Given the description of an element on the screen output the (x, y) to click on. 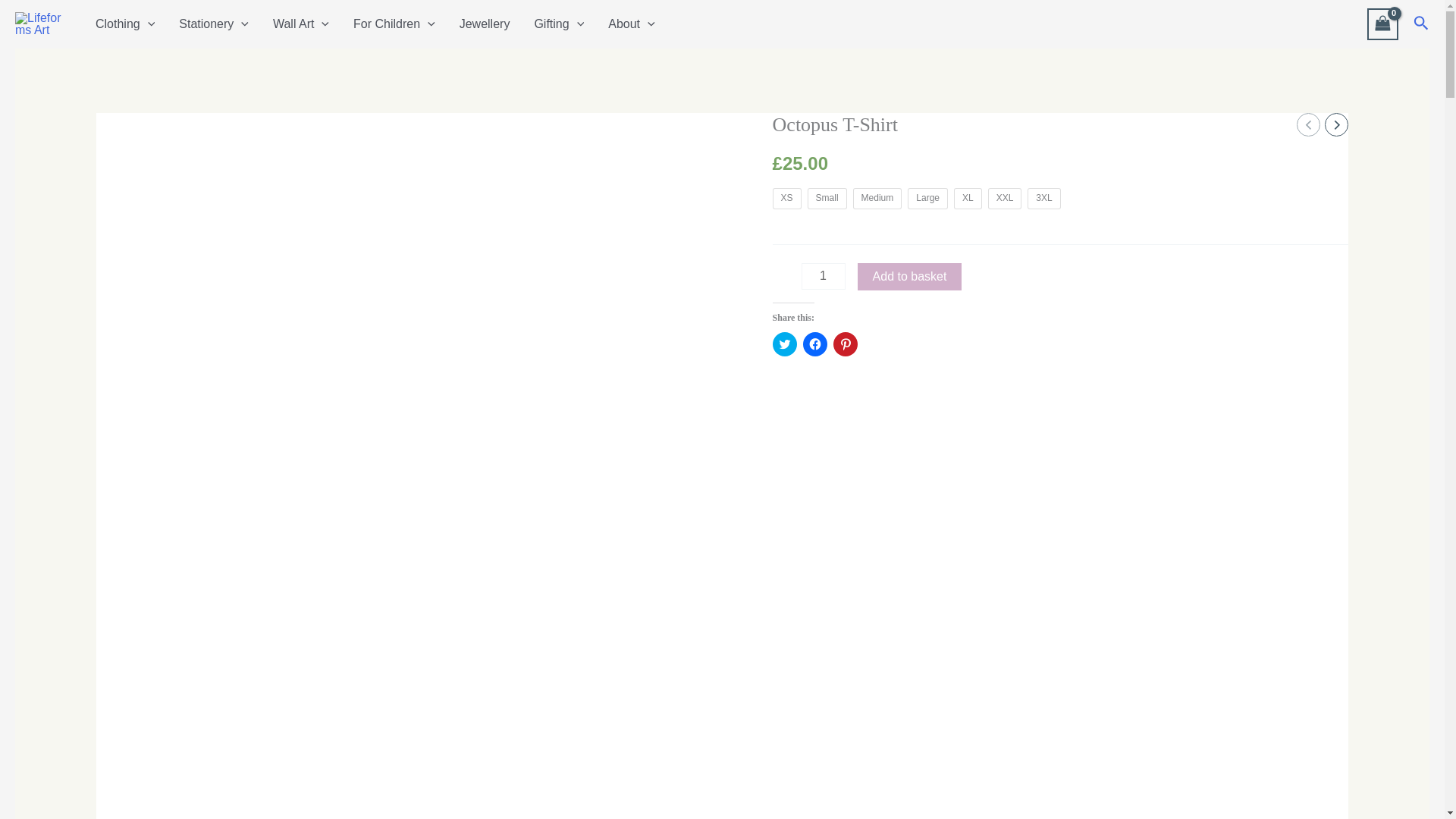
Wall Art (300, 24)
For Children (393, 24)
Click to share on Facebook (815, 344)
Jewellery (484, 24)
Clothing (124, 24)
1 (823, 275)
Click to share on Pinterest (844, 344)
Stationery (213, 24)
Gifting (558, 24)
Click to share on Twitter (784, 344)
